Given the description of an element on the screen output the (x, y) to click on. 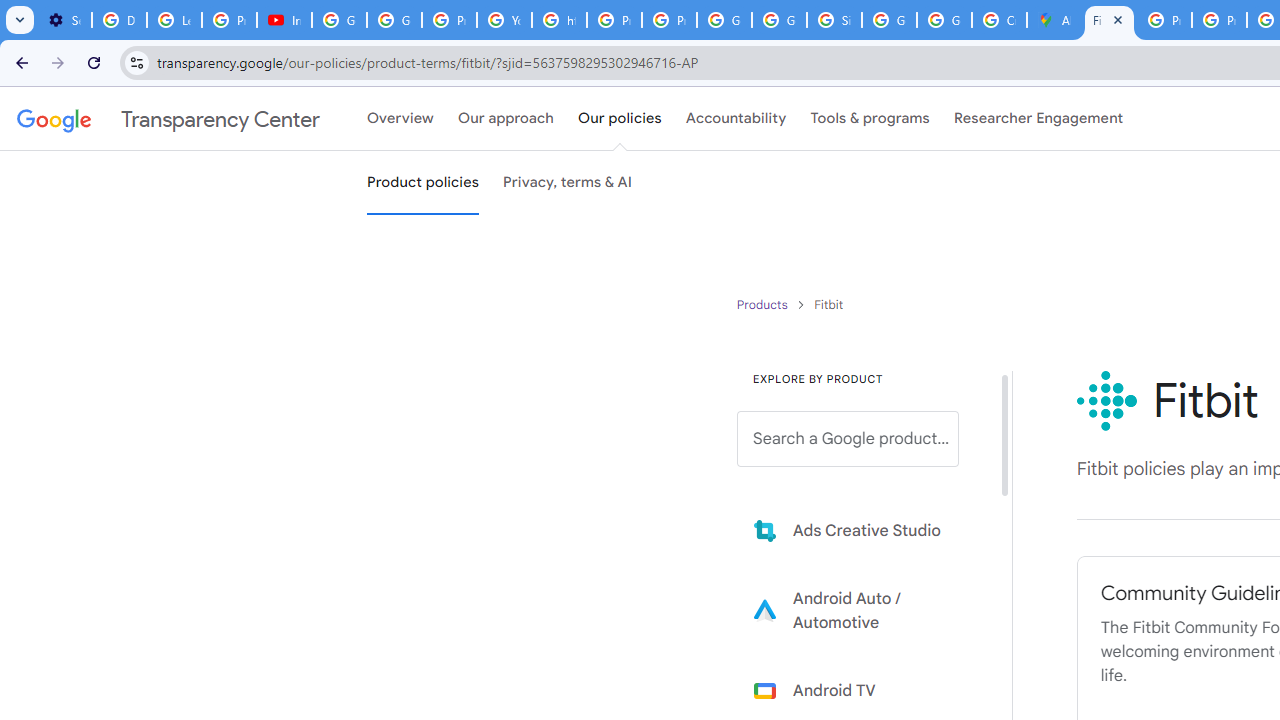
Learn more about Ads Creative Studio (862, 530)
Our approach (506, 119)
Privacy Help Center - Policies Help (1218, 20)
Create your Google Account (998, 20)
Transparency Center (167, 119)
Learn more about Android Auto (862, 610)
Tools & programs (869, 119)
Fitbit Policies and Guidelines - Transparency Center (1108, 20)
Learn more about Ads Creative Studio (862, 530)
